Given the description of an element on the screen output the (x, y) to click on. 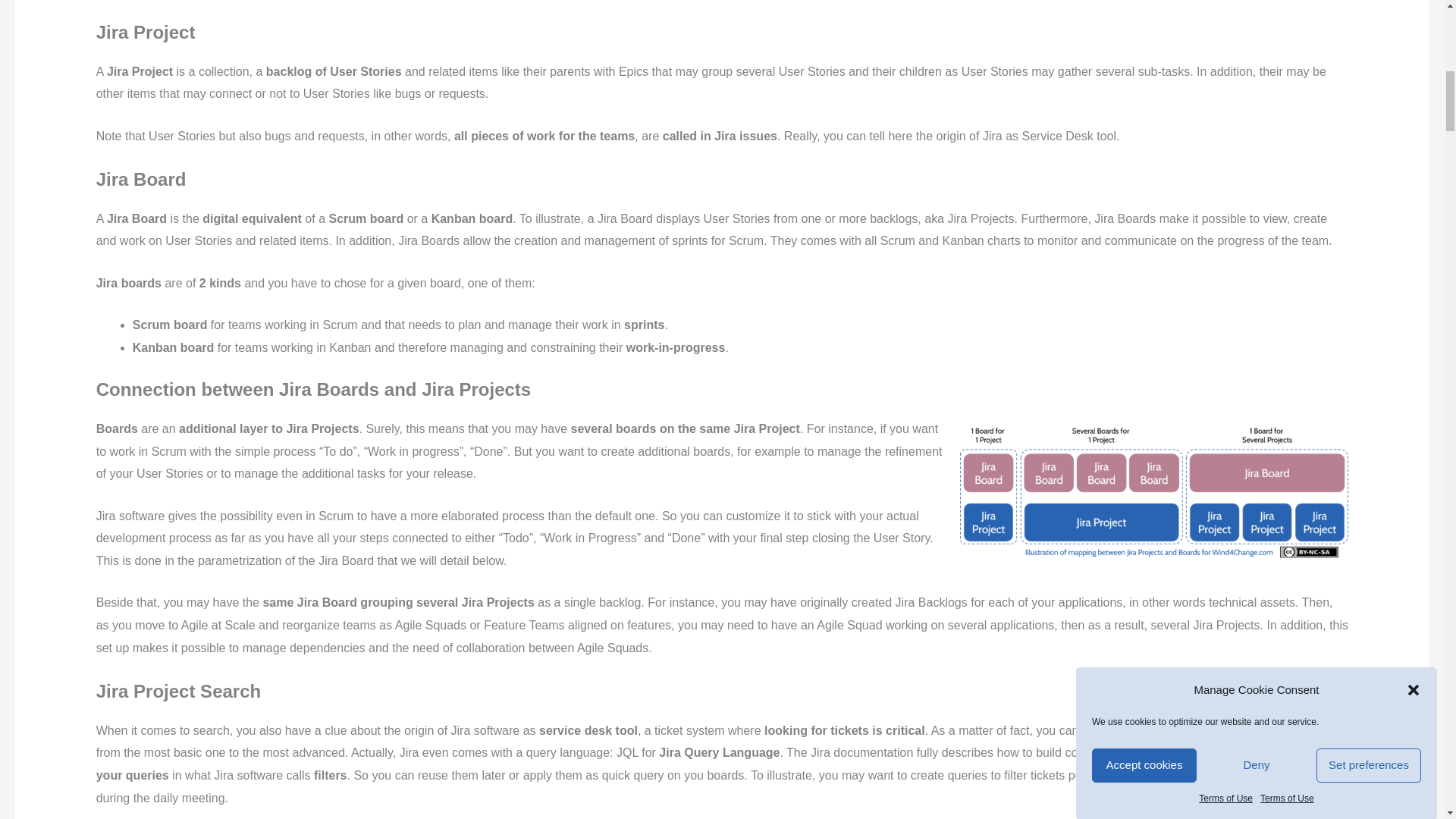
Set preferences (1368, 203)
Deny (1256, 219)
Accept cookies (1144, 234)
Terms of Use (1225, 152)
Terms of Use (1287, 140)
